Given the description of an element on the screen output the (x, y) to click on. 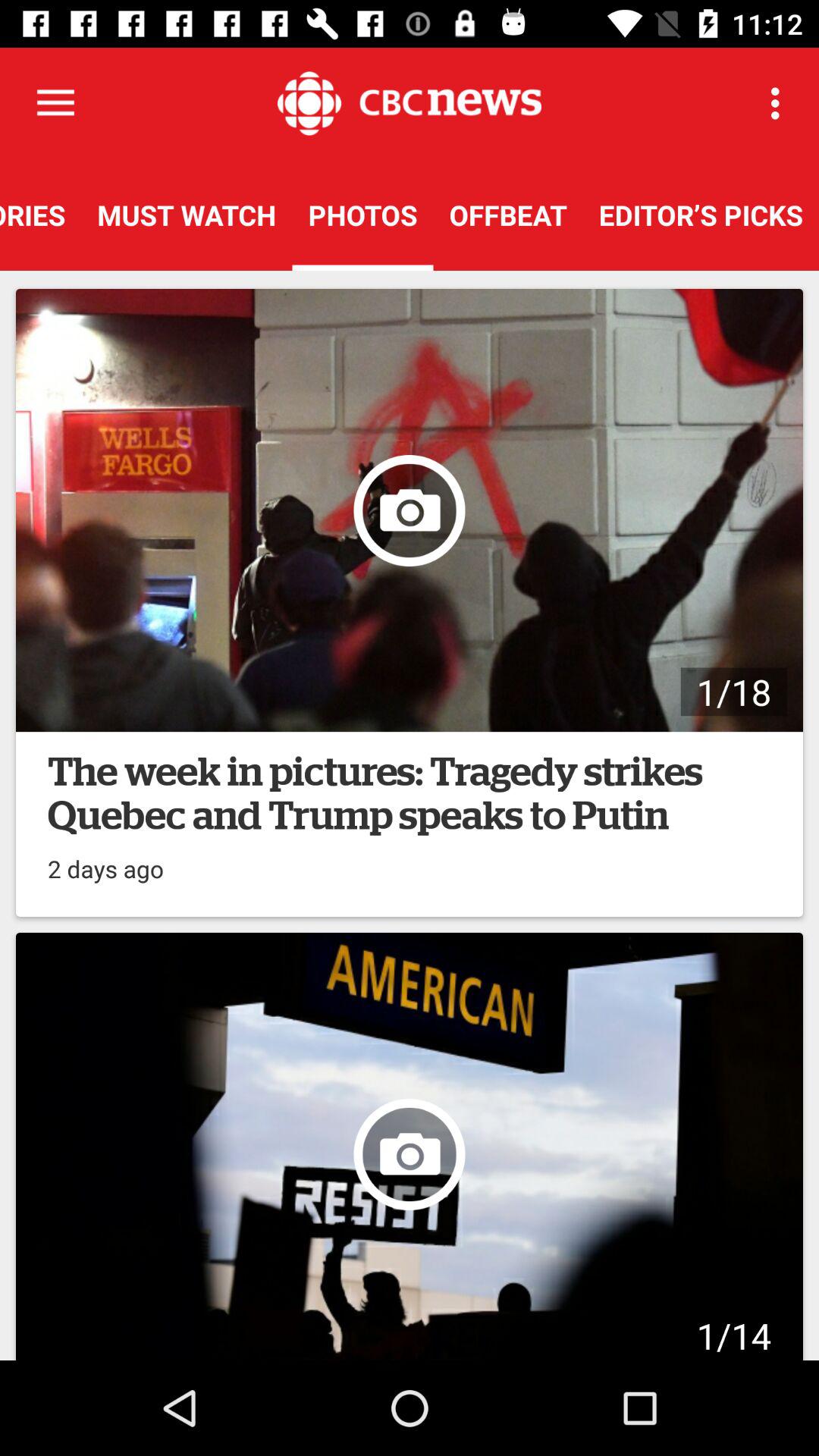
launch item above top stories (55, 103)
